Given the description of an element on the screen output the (x, y) to click on. 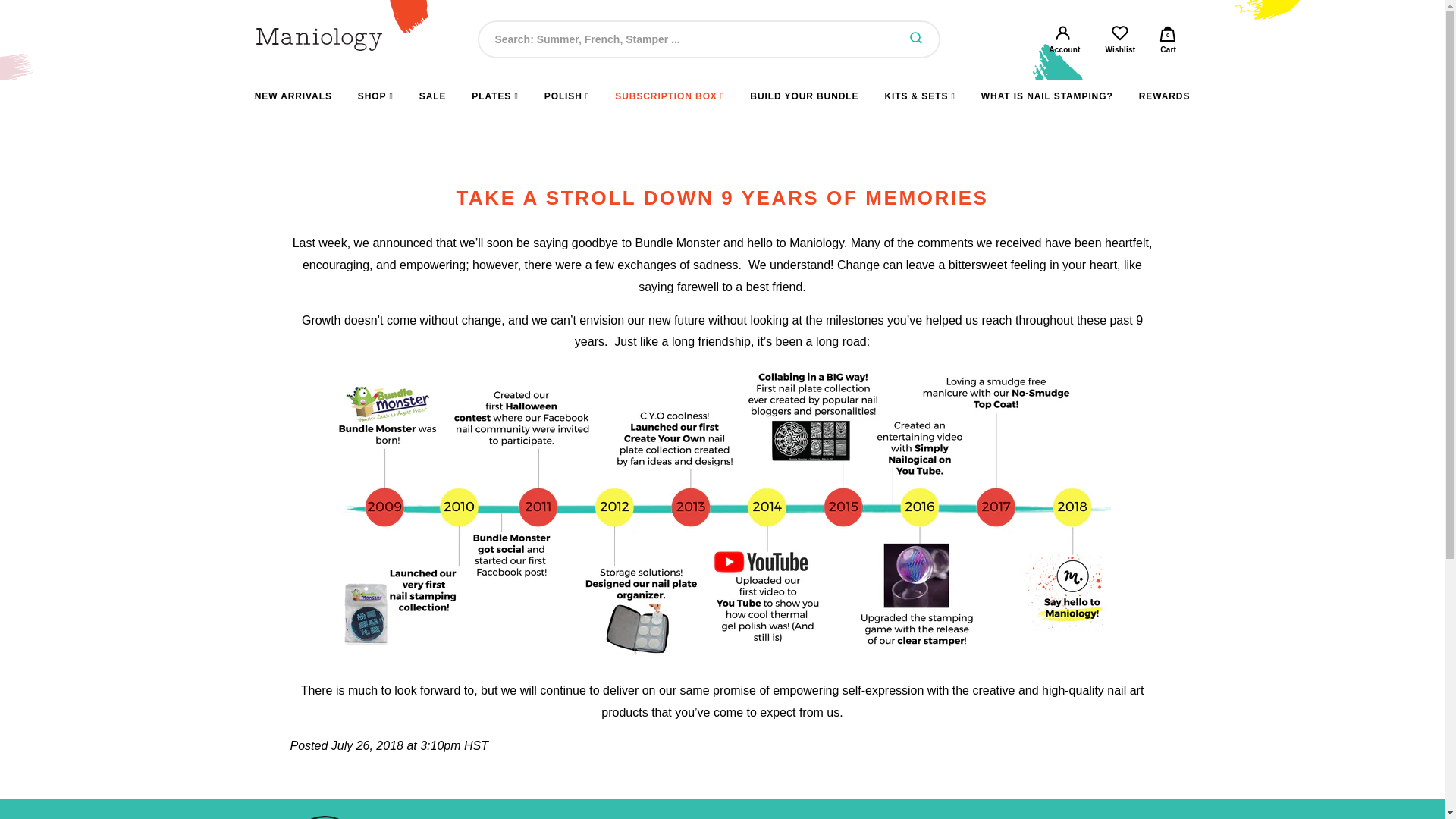
Wishlist (1120, 39)
Login (1065, 39)
Wishlist (1120, 39)
SHOP (375, 95)
SEARCH (915, 38)
NEW ARRIVALS (293, 95)
Account (1168, 39)
